Given the description of an element on the screen output the (x, y) to click on. 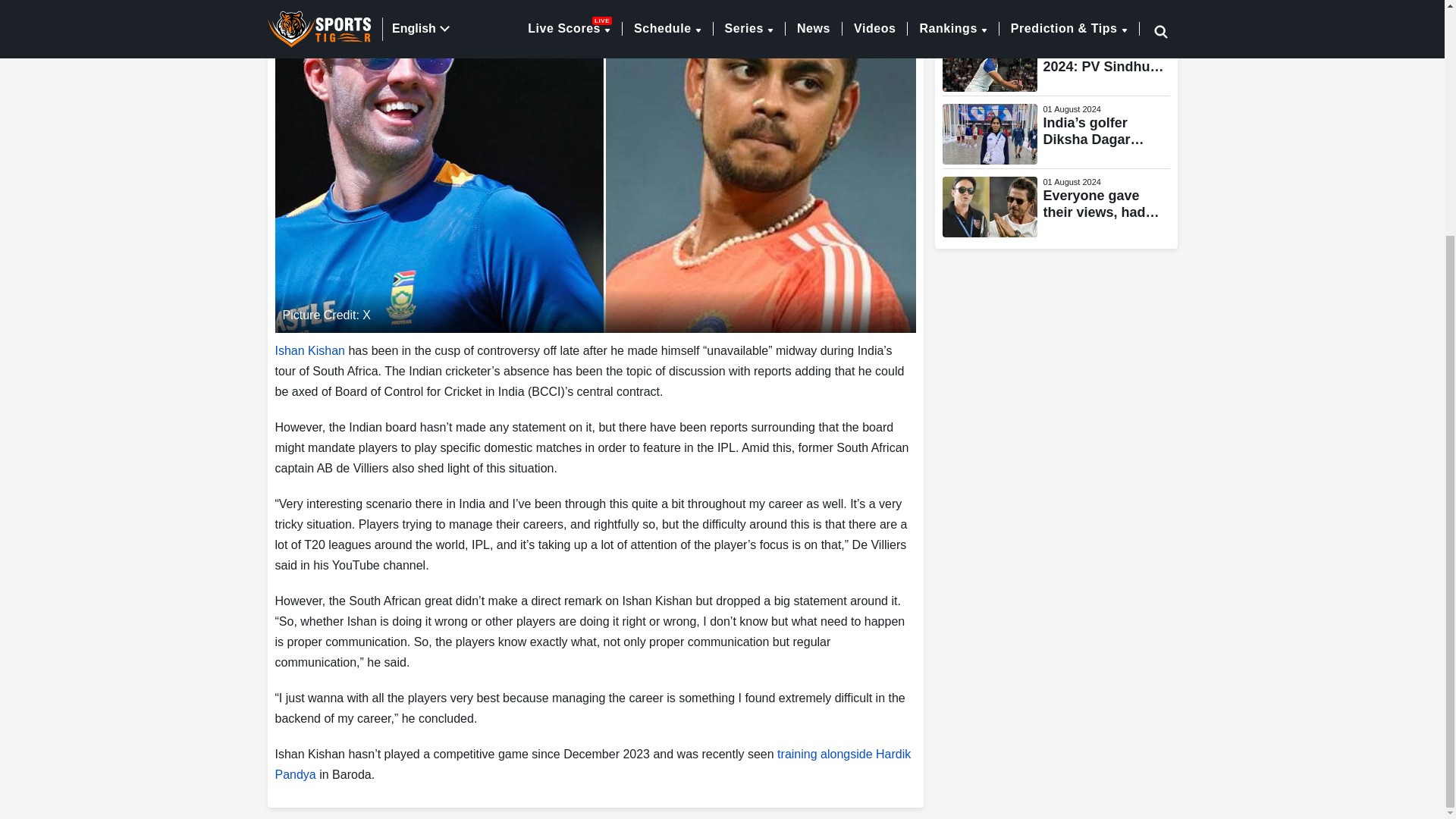
Ishan Kishan (310, 350)
training alongside Hardik Pandya (593, 764)
